Given the description of an element on the screen output the (x, y) to click on. 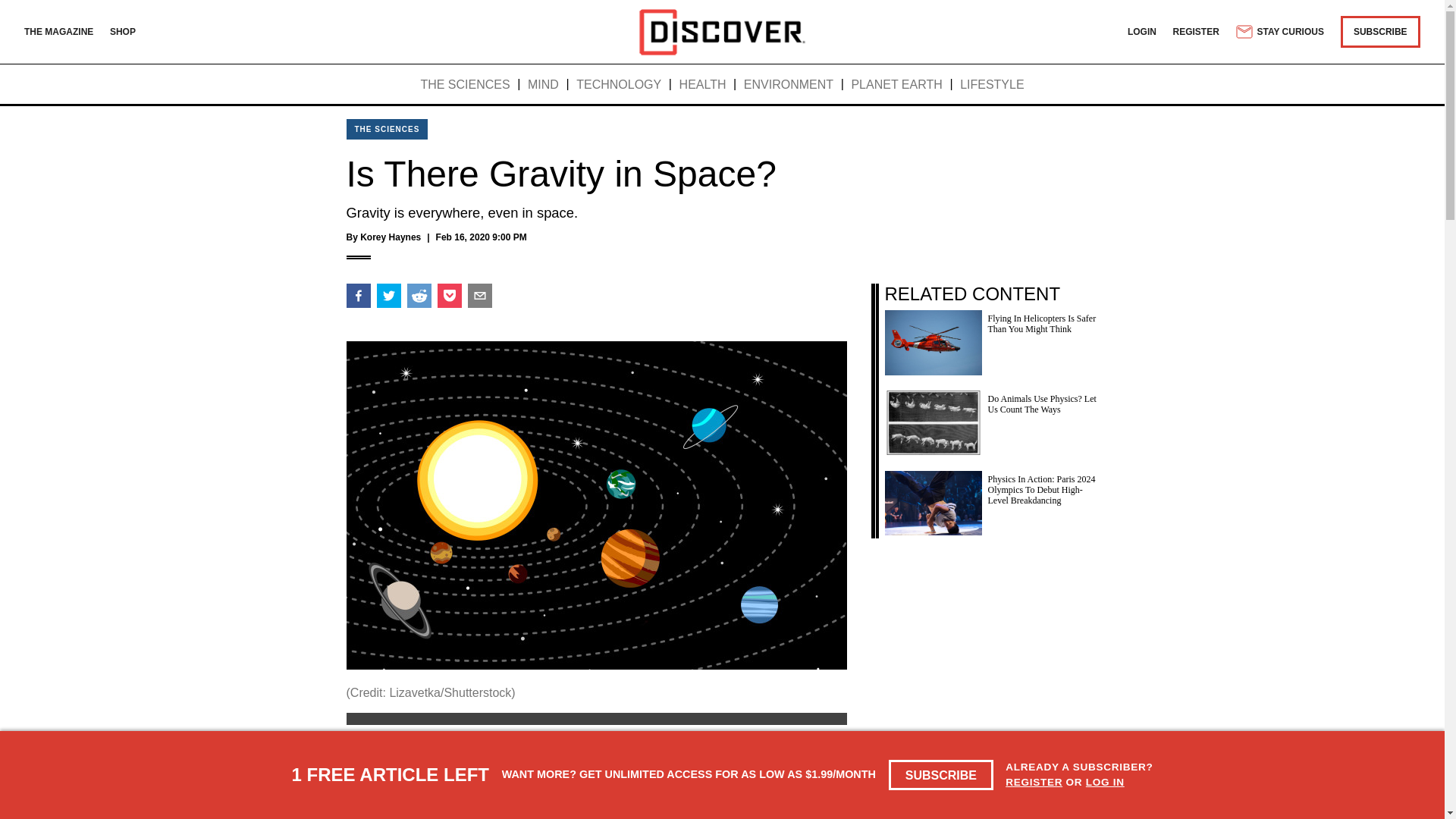
Korey Haynes (389, 236)
MIND (543, 84)
THE SCIENCES (464, 84)
SUBSCRIBE (941, 775)
floating astronaut videos (664, 814)
TECHNOLOGY (618, 84)
HEALTH (702, 84)
SIGN UP (811, 751)
LIFESTYLE (991, 84)
REGISTER (1196, 31)
THE MAGAZINE (58, 31)
SHOP (122, 31)
THE SCIENCES (387, 128)
LOG IN (1105, 781)
PLANET EARTH (896, 84)
